Given the description of an element on the screen output the (x, y) to click on. 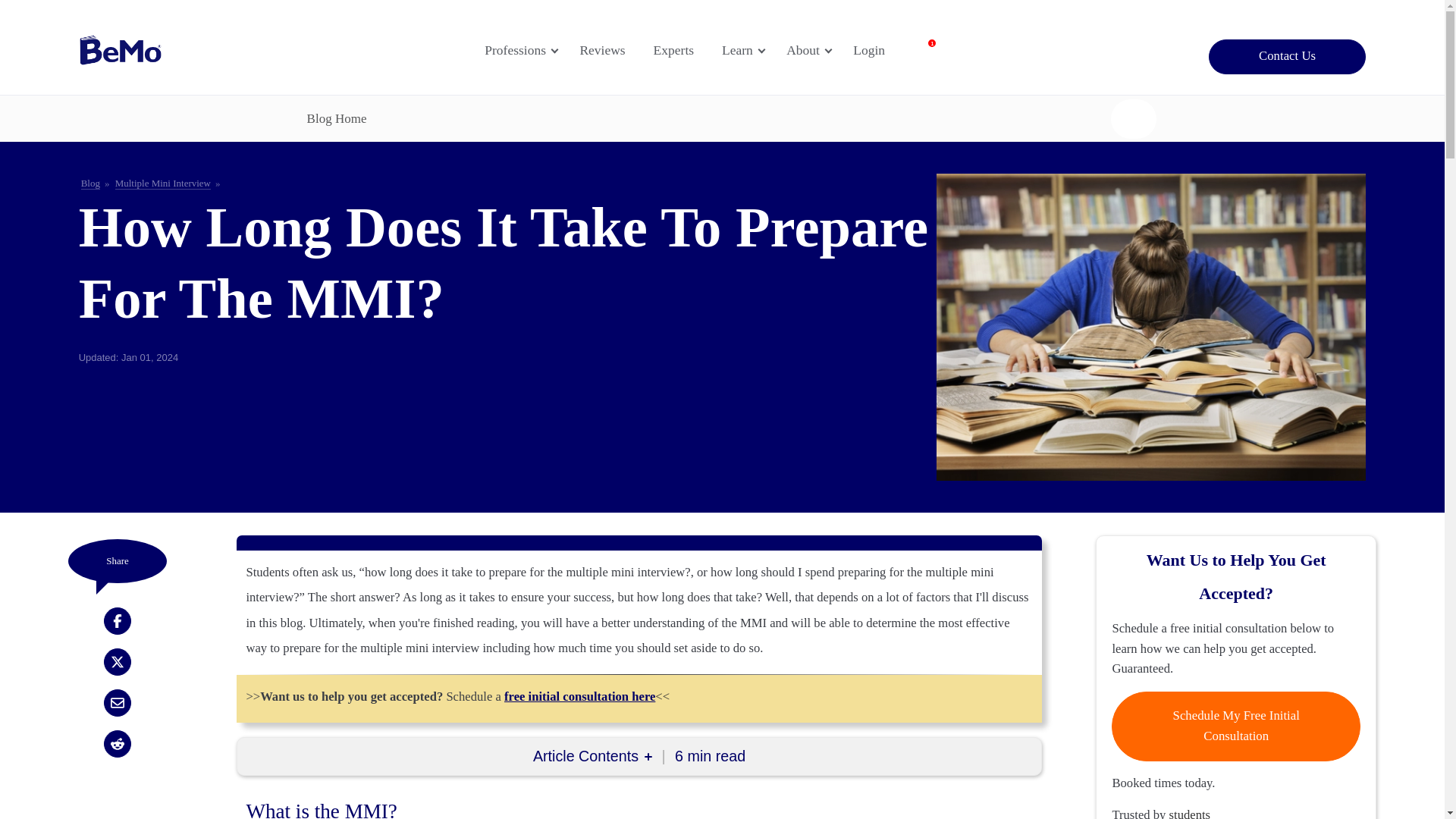
Contact Us (1287, 56)
Experts (681, 50)
Reviews (748, 50)
Blog Home (610, 50)
Blog (336, 118)
Multiple Mini Interview (90, 183)
Login (813, 50)
free initial consultation here (163, 183)
